Given the description of an element on the screen output the (x, y) to click on. 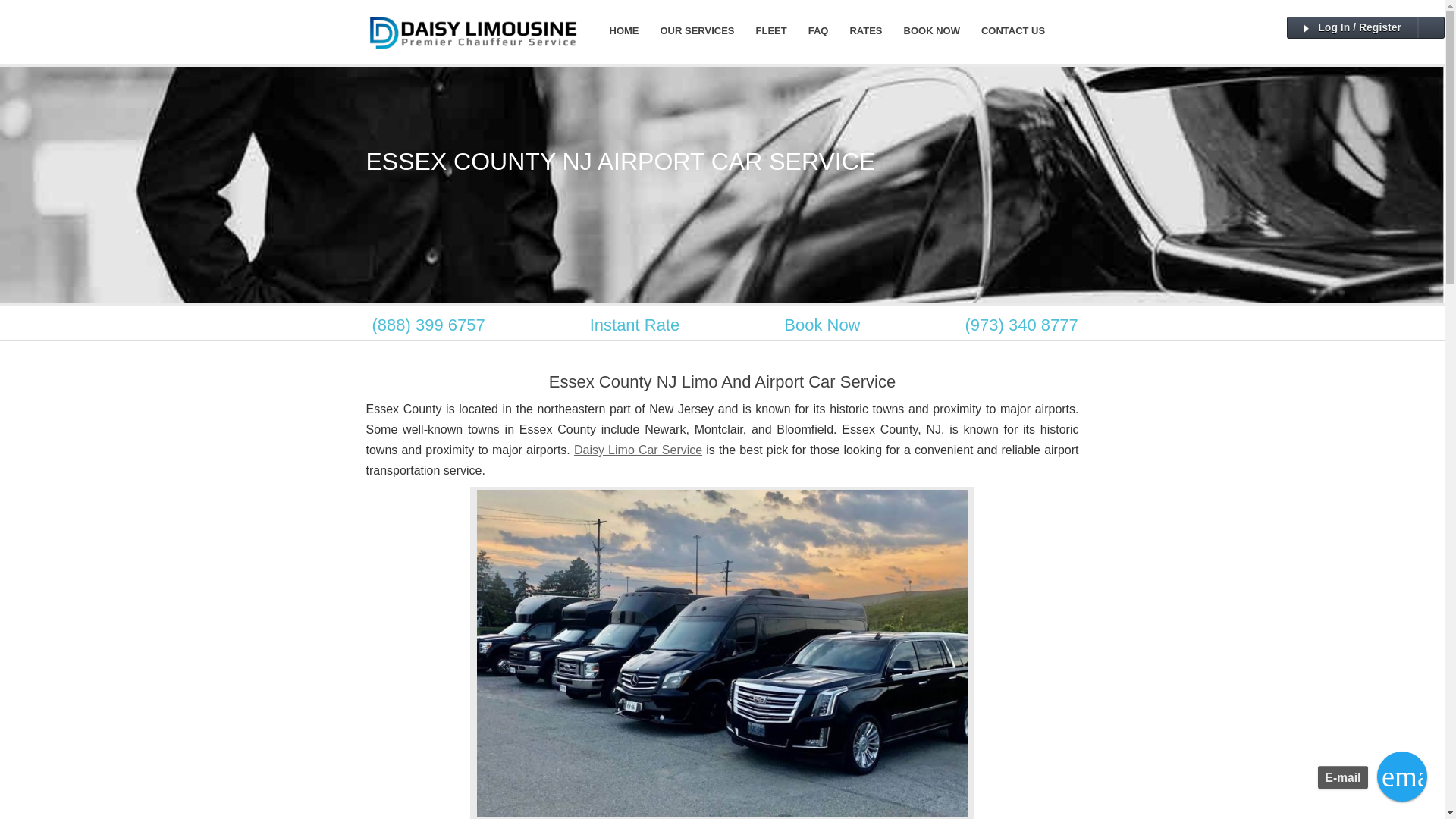
Instant Rate (635, 324)
Book Now (821, 324)
BOOK NOW (932, 30)
OUR SERVICES (696, 30)
Daisy Limo Car Service (637, 449)
FAQ (818, 30)
CONTACT US (1013, 30)
HOME (623, 30)
FLEET (771, 30)
Daisy Limousine (472, 49)
RATES (865, 30)
